Given the description of an element on the screen output the (x, y) to click on. 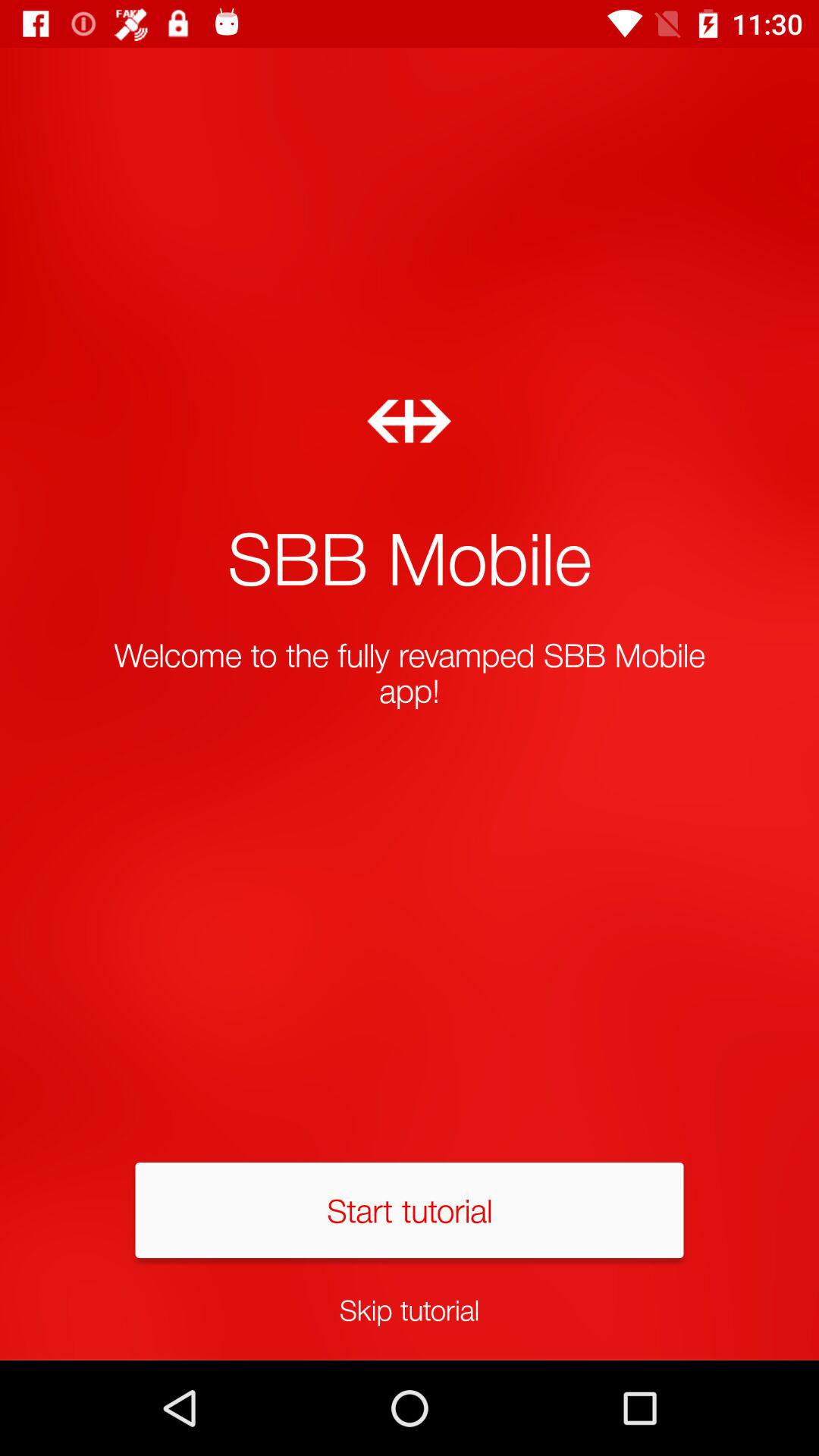
flip until skip tutorial icon (409, 1309)
